Given the description of an element on the screen output the (x, y) to click on. 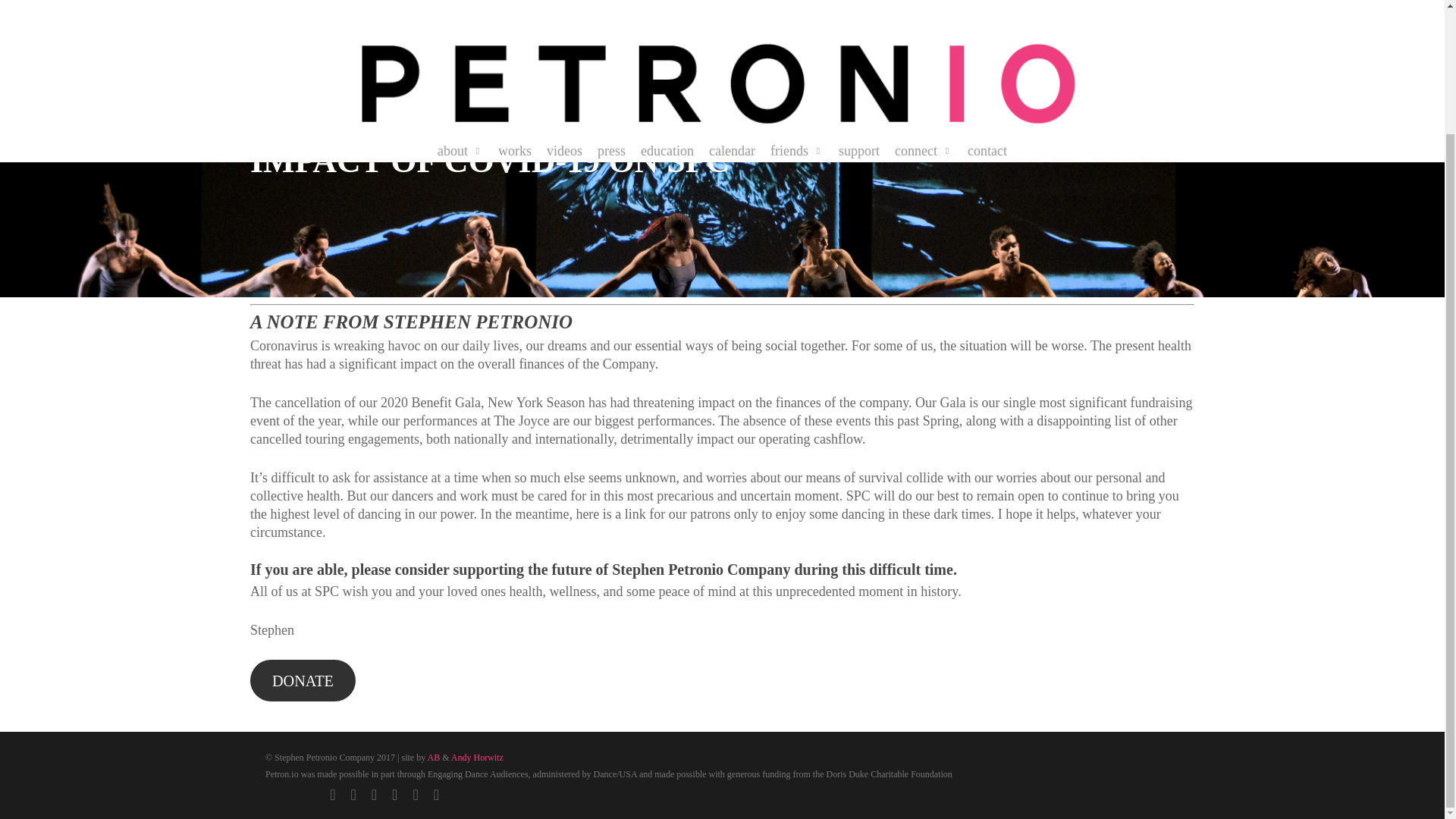
friends (797, 4)
videos (564, 4)
about (460, 4)
contact (987, 4)
education (667, 4)
AB (434, 757)
press (611, 4)
Andy Horwitz (477, 757)
support (858, 4)
connect (923, 4)
calendar (732, 4)
DONATE (302, 680)
works (514, 4)
